Given the description of an element on the screen output the (x, y) to click on. 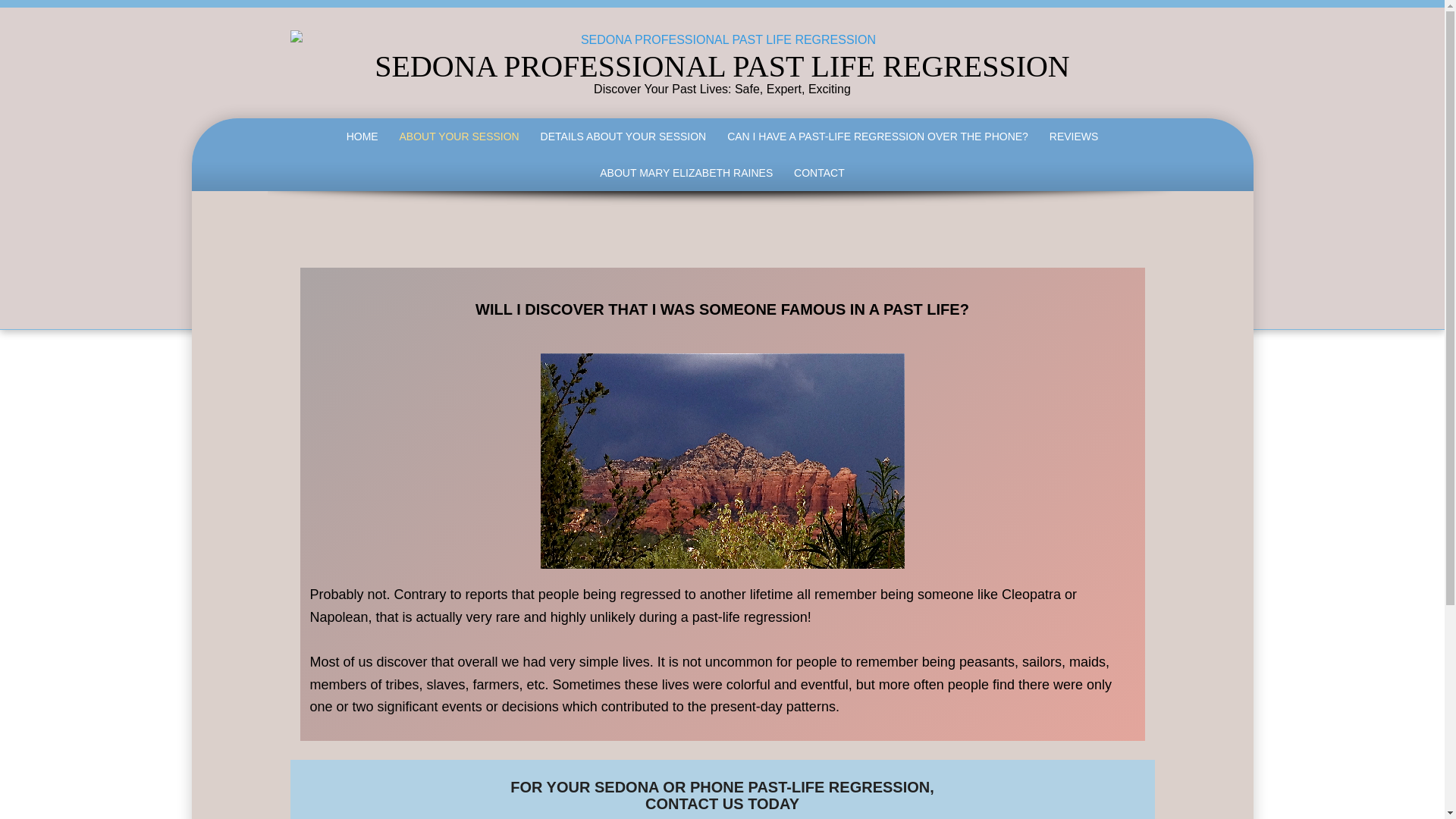
REVIEWS (1074, 135)
ABOUT MARY ELIZABETH RAINES (686, 172)
CONTACT US TODAY (722, 803)
SKIP TO CONTENT (293, 121)
SEDONA PROFESSIONAL PAST LIFE REGRESSION (721, 39)
HOME (362, 135)
DETAILS ABOUT YOUR SESSION (623, 135)
SEDONA PROFESSIONAL PAST LIFE REGRESSION (721, 66)
SEDONA PROFESSIONAL PAST LIFE REGRESSION (721, 66)
CONTACT (818, 172)
Contact (722, 786)
CAN I HAVE A PAST-LIFE REGRESSION OVER THE PHONE? (876, 135)
FOR YOUR SEDONA OR PHONE PAST-LIFE REGRESSION, (722, 786)
ABOUT YOUR SESSION (459, 135)
